Given the description of an element on the screen output the (x, y) to click on. 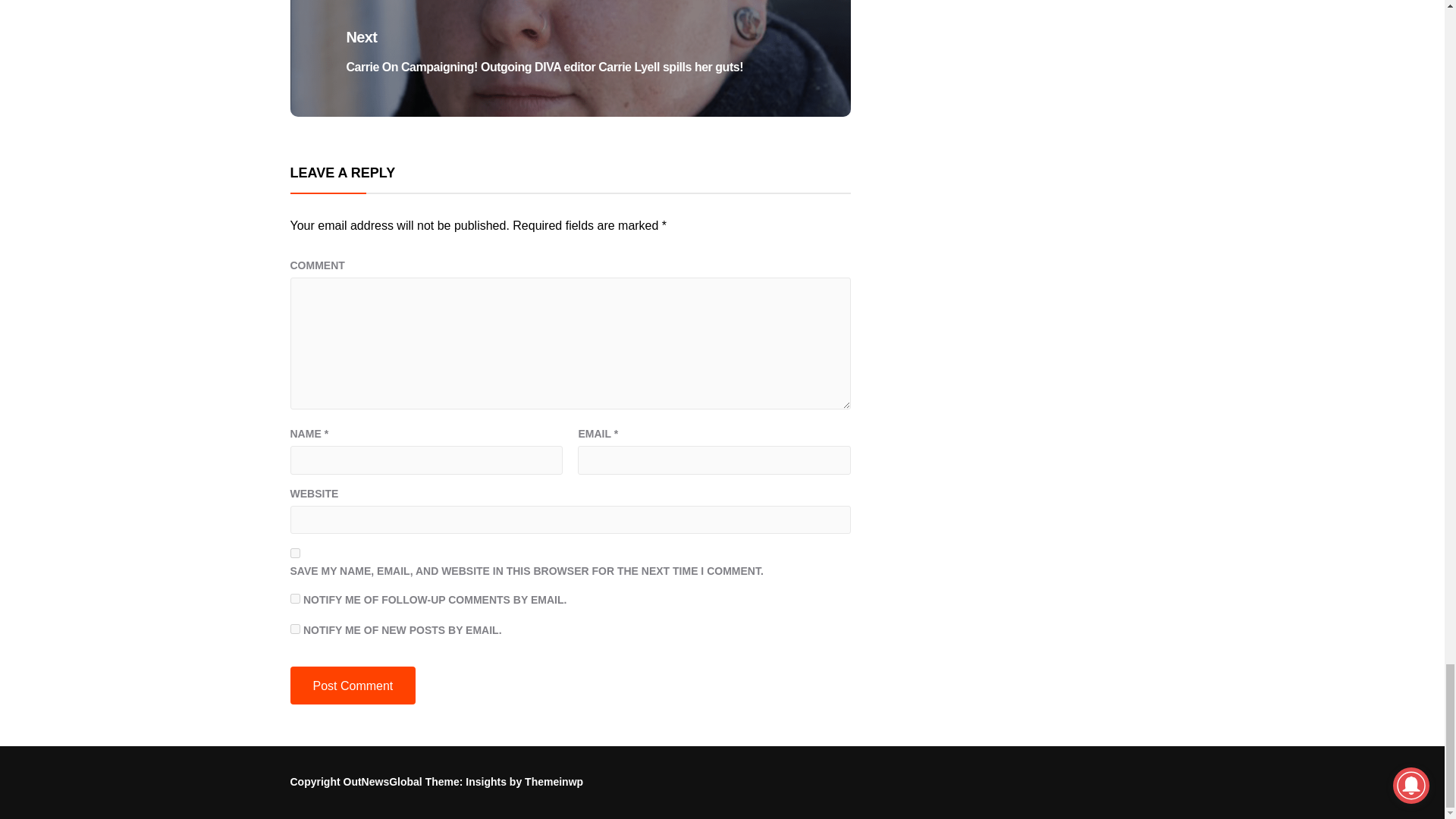
subscribe (294, 628)
yes (294, 552)
Post Comment (351, 685)
subscribe (294, 598)
